Given the description of an element on the screen output the (x, y) to click on. 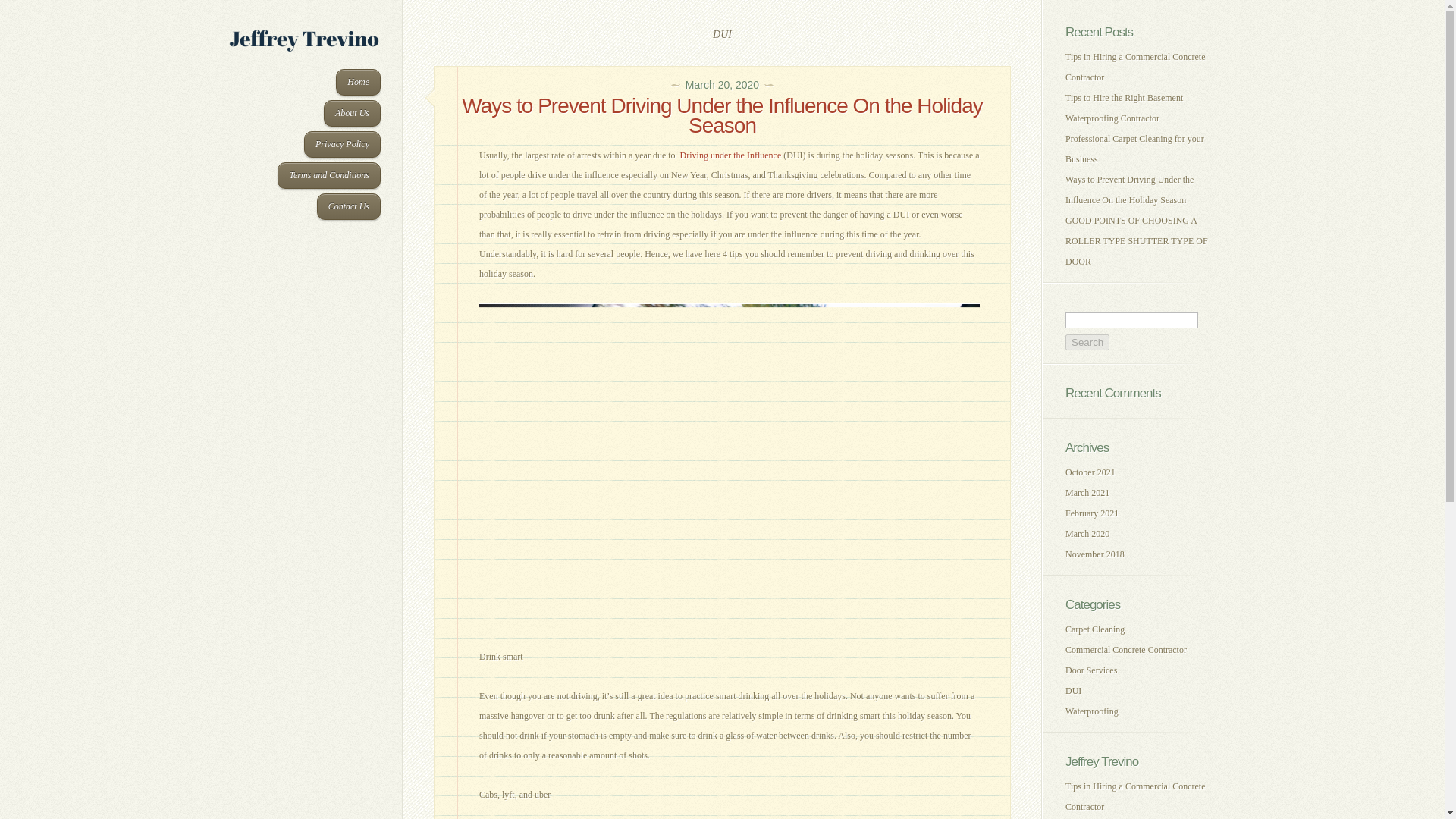
Privacy Policy (342, 144)
Contact Us (348, 206)
Tips to Hire the Right Basement Waterproofing Contractor (1123, 107)
Search (1087, 342)
Home (358, 81)
GOOD POINTS OF CHOOSING A ROLLER TYPE SHUTTER TYPE OF DOOR (1136, 240)
Tips in Hiring a Commercial Concrete Contractor (1135, 66)
March 2021 (1087, 492)
Professional Carpet Cleaning for your Business (1134, 148)
Search (1087, 342)
Driving under the Influence (730, 154)
October 2021 (1090, 471)
Terms and Conditions (329, 175)
